Given the description of an element on the screen output the (x, y) to click on. 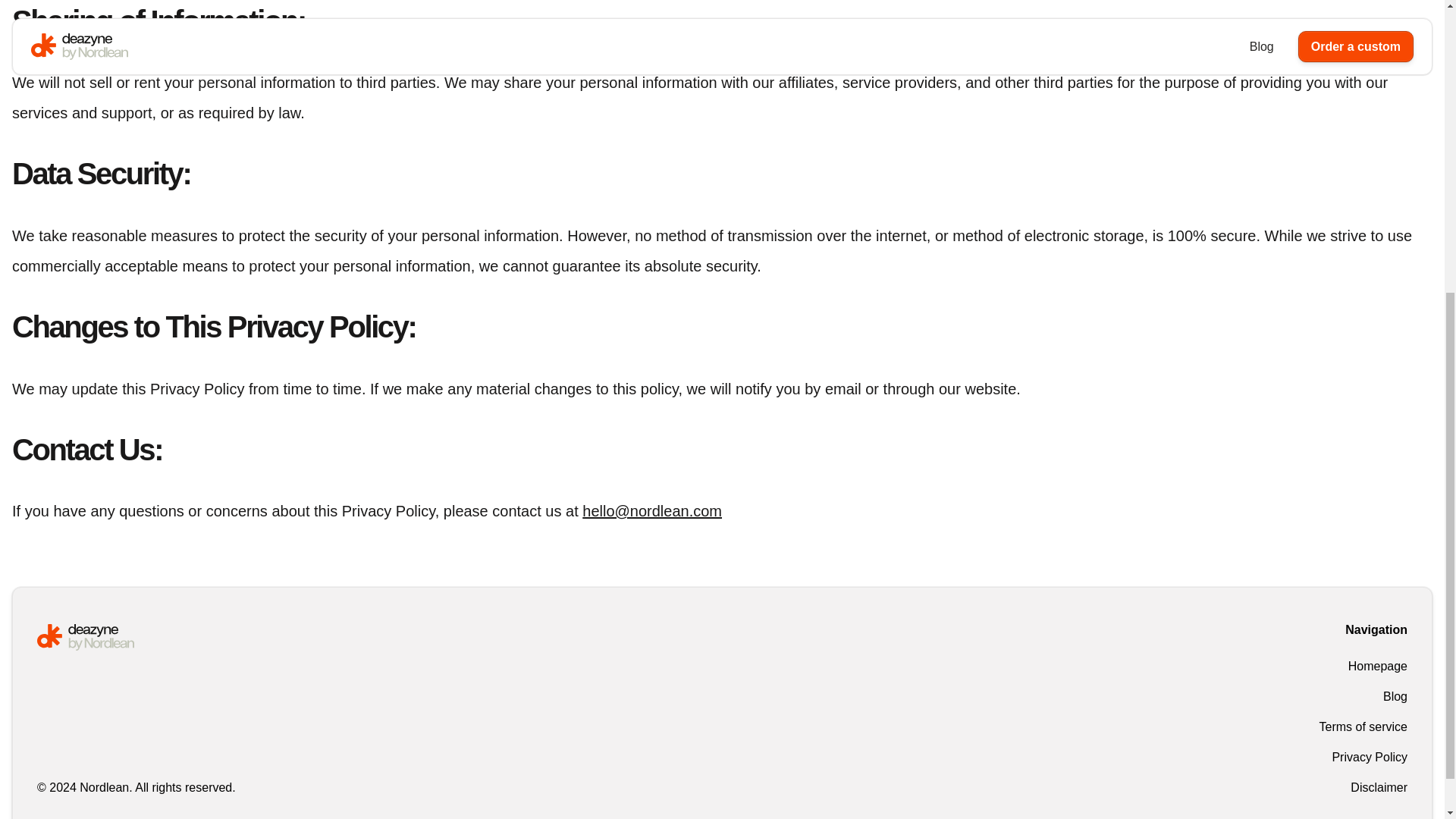
Blog (1363, 696)
Terms of service (1363, 727)
Disclaimer (1363, 787)
Privacy Policy (1363, 757)
Homepage (1363, 666)
